Given the description of an element on the screen output the (x, y) to click on. 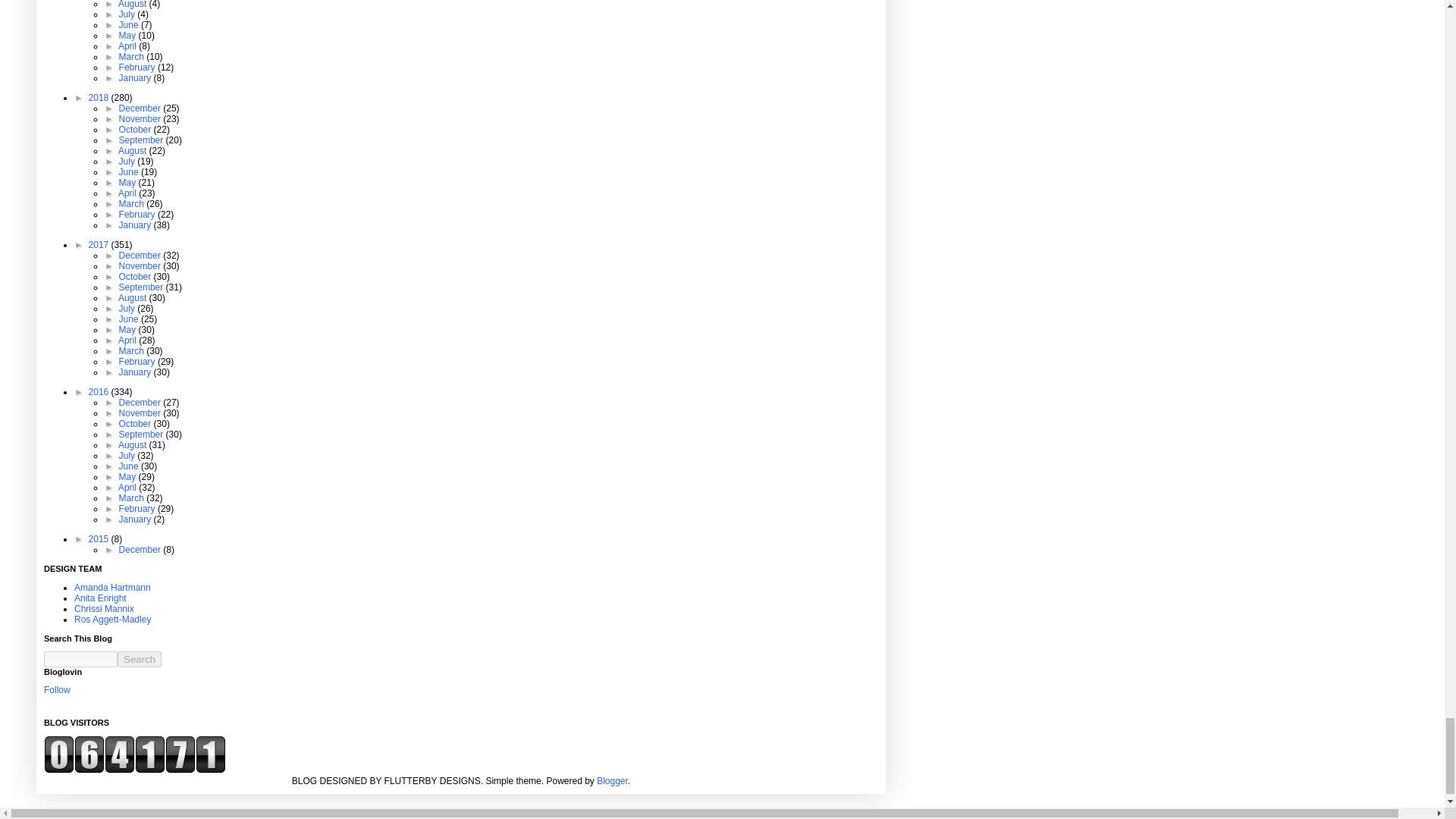
search (139, 659)
Search (139, 659)
free hit counter code (134, 769)
free hit counter code (134, 754)
search (80, 659)
Search (139, 659)
